Given the description of an element on the screen output the (x, y) to click on. 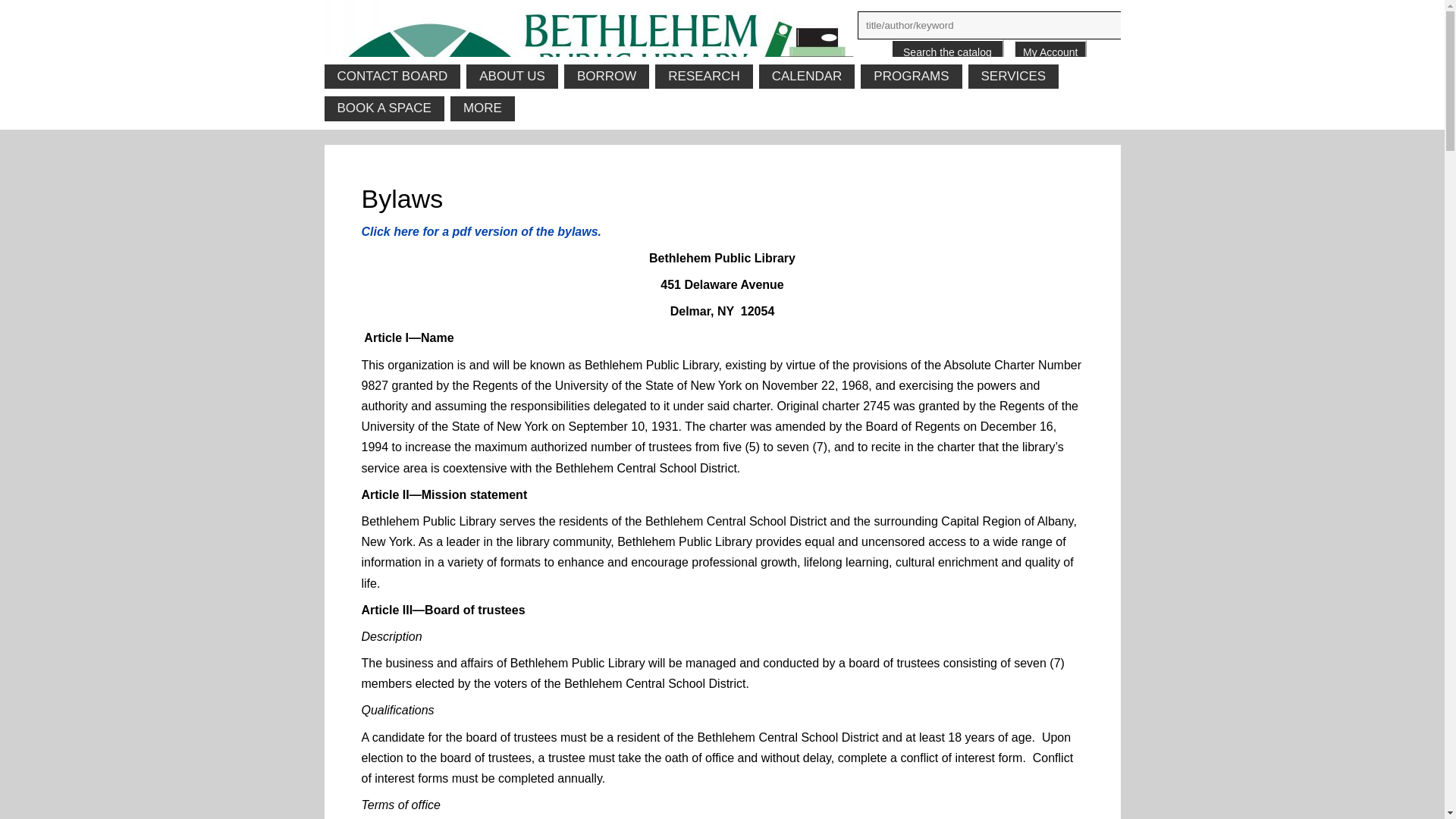
BOOK A SPACE (384, 108)
PROGRAMS (910, 76)
ABOUT US (511, 76)
SERVICES (1013, 76)
CONTACT BOARD (392, 76)
BORROW (606, 76)
MORE (482, 108)
Click here for a pdf version of the bylaws. (481, 231)
RESEARCH (703, 76)
Bethlehem Public Library (722, 45)
